Given the description of an element on the screen output the (x, y) to click on. 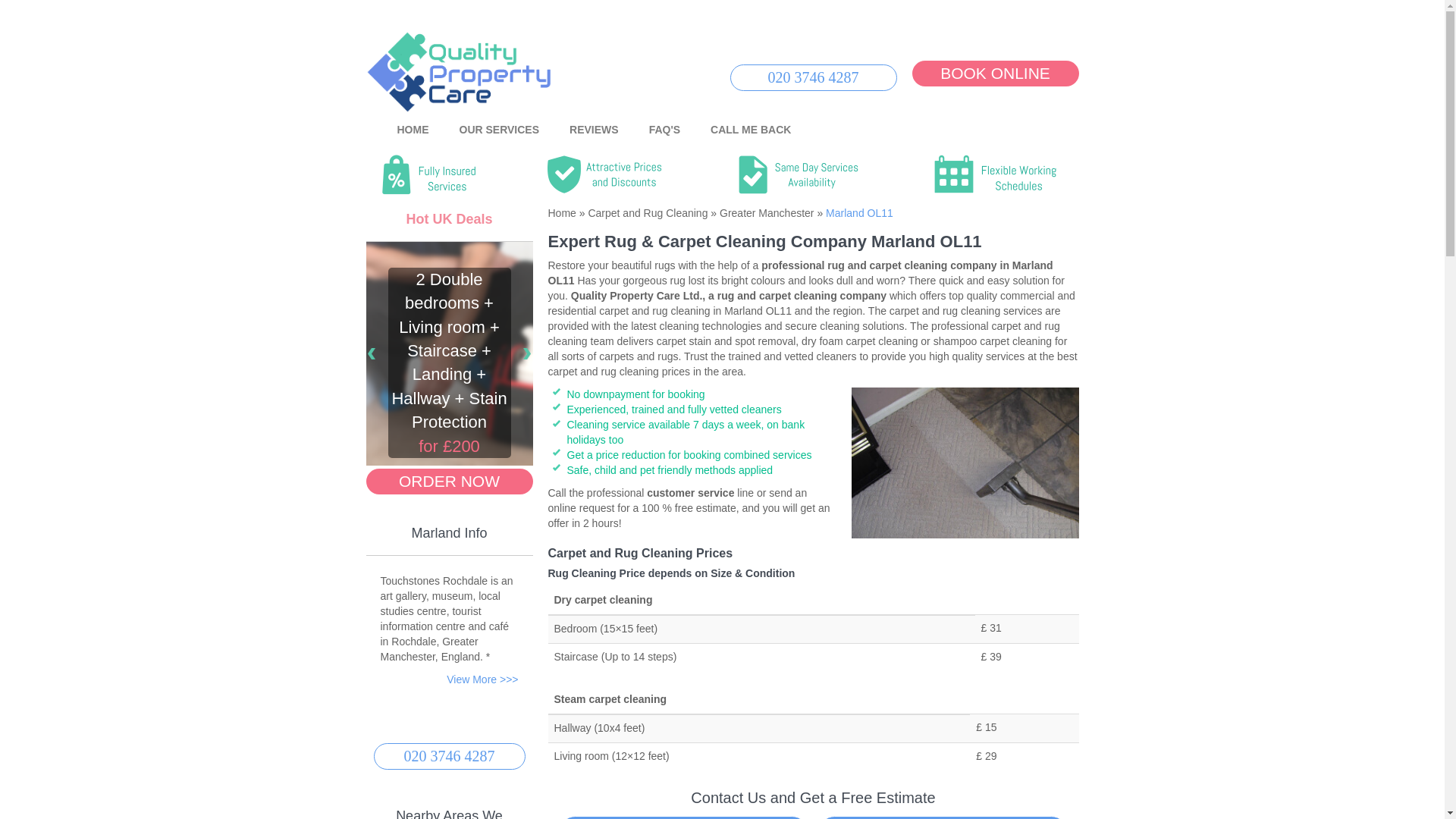
HOME (413, 130)
ORDER NOW (448, 481)
BOOK ONLINE (994, 73)
Greater Manchester (764, 213)
Carpet and Rug Cleaning (646, 213)
Fill Our Online Form (942, 817)
CALL ME BACK (750, 130)
FAQ'S (664, 130)
Quality Property Care Ltd. (458, 71)
020 3746 4287 (683, 817)
